Given the description of an element on the screen output the (x, y) to click on. 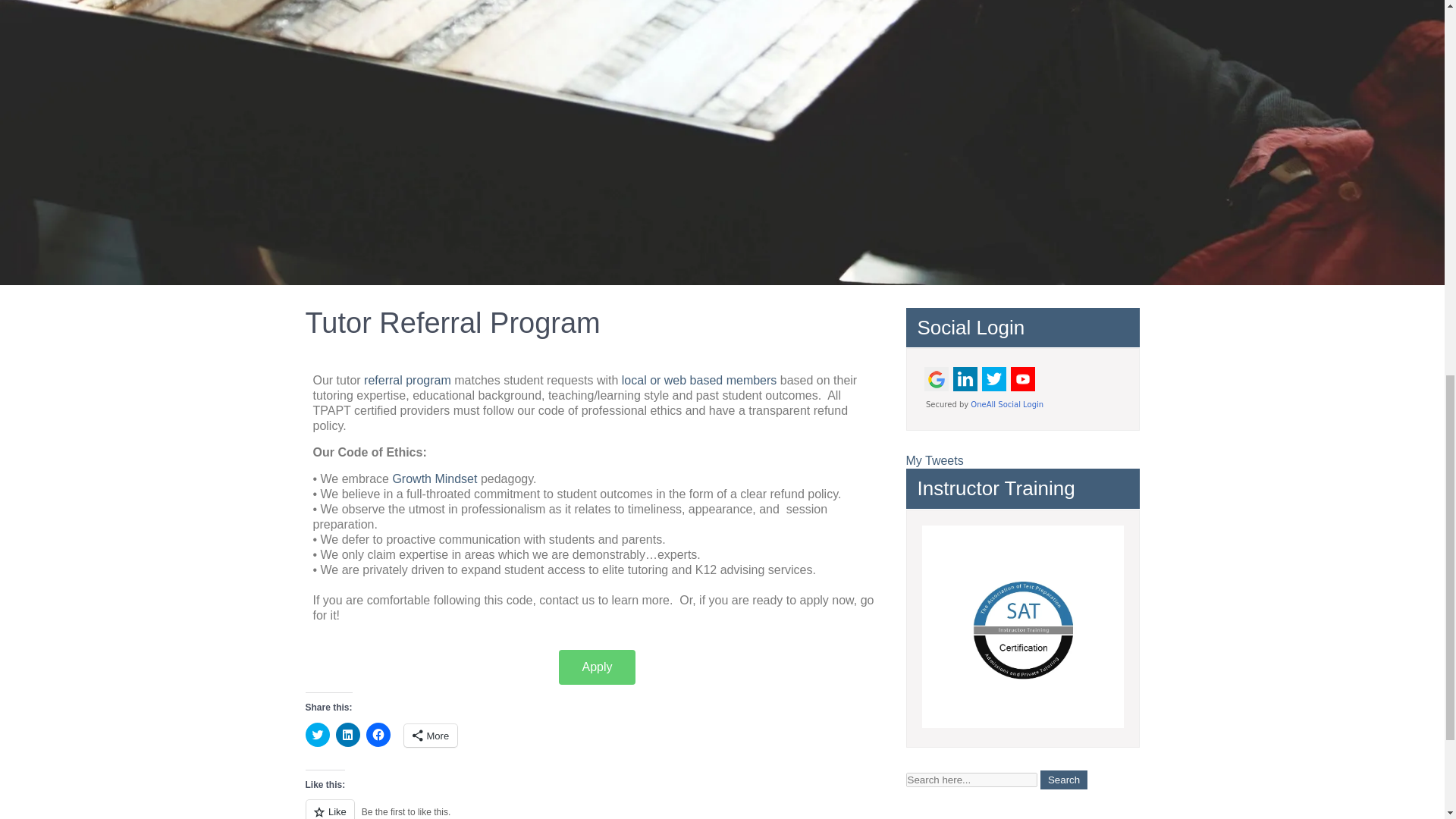
Growth Mindset (432, 478)
Like or Reblog (596, 809)
More (430, 734)
referral program (407, 379)
Search (1064, 779)
local or web based members (697, 379)
My Tweets (933, 460)
Click to share on Twitter (316, 734)
Click to share on Facebook (377, 734)
Login with Social Networks (1022, 387)
Apply (596, 667)
Search (1064, 779)
Click to share on LinkedIn (346, 734)
Search (1064, 779)
